Given the description of an element on the screen output the (x, y) to click on. 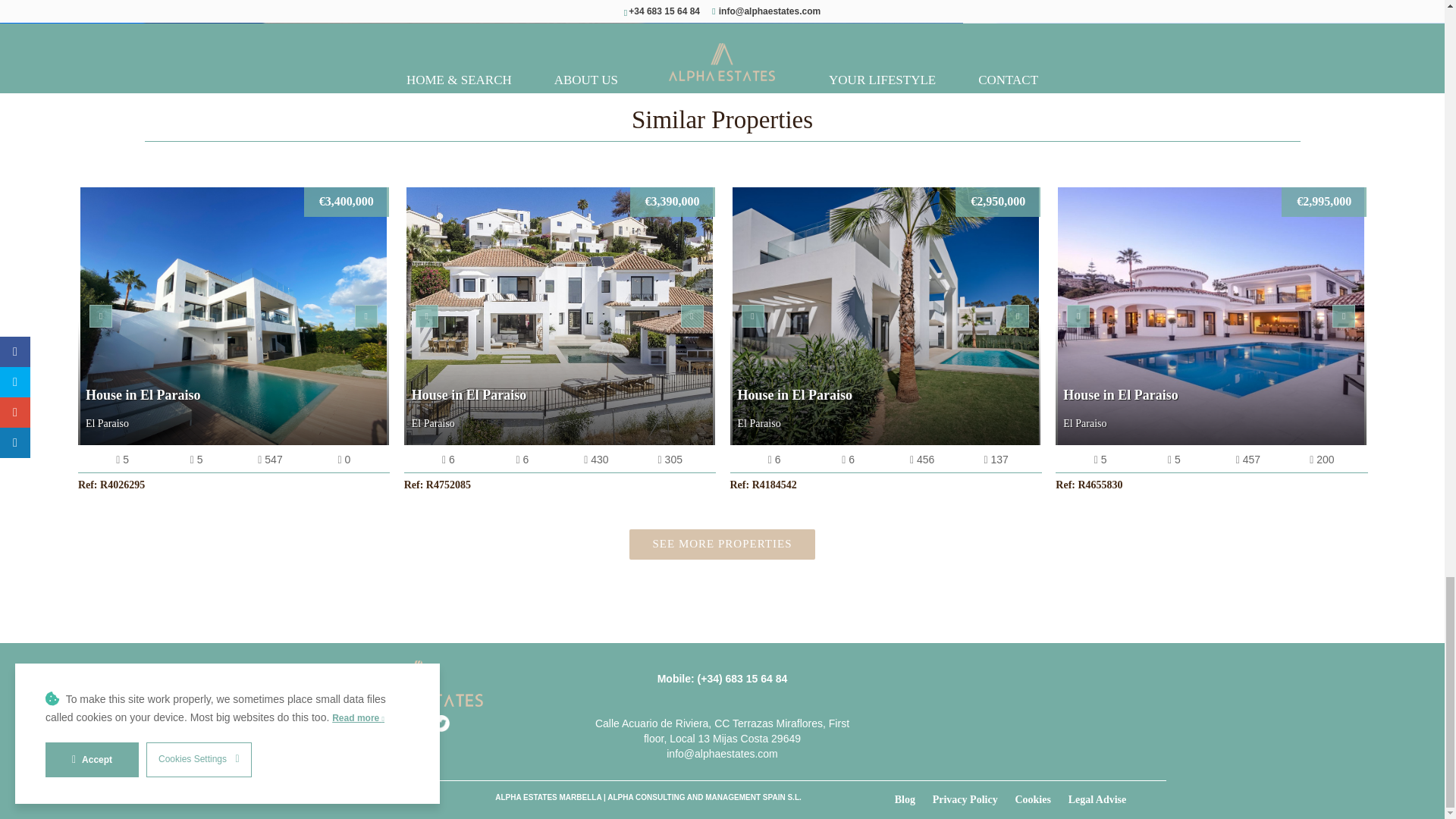
Privacy Policy (973, 799)
Baths (195, 459)
House in El Paraiso (559, 316)
Previous (100, 315)
Next (366, 315)
Previous (752, 315)
Blog (912, 799)
Next (1017, 315)
Built (343, 459)
Price (671, 202)
Next (692, 315)
SEE MORE PROPERTIES (721, 543)
Beds (448, 459)
Built (596, 459)
Price (346, 202)
